Given the description of an element on the screen output the (x, y) to click on. 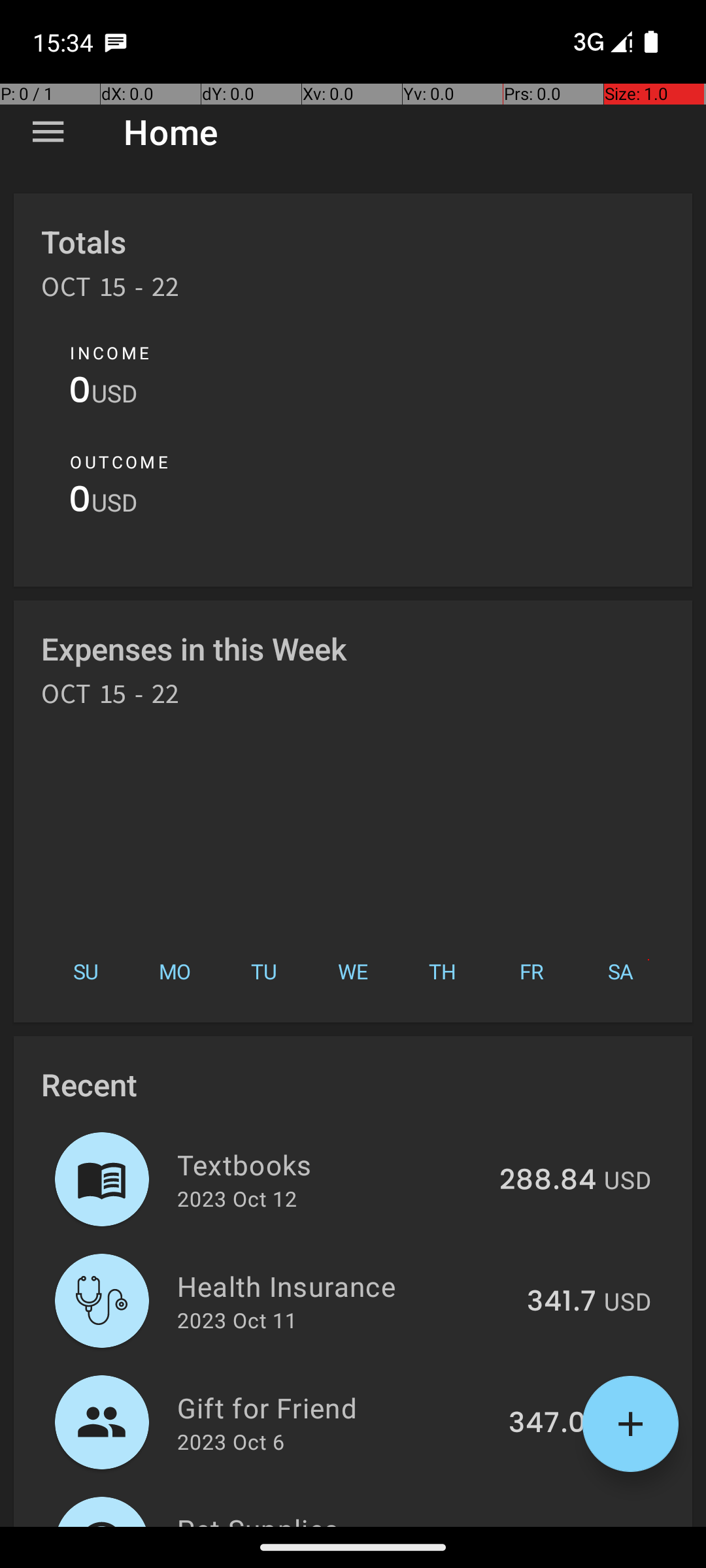
Textbooks Element type: android.widget.TextView (330, 1164)
288.84 Element type: android.widget.TextView (547, 1180)
Health Insurance Element type: android.widget.TextView (344, 1285)
2023 Oct 11 Element type: android.widget.TextView (236, 1320)
341.7 Element type: android.widget.TextView (561, 1301)
Gift for Friend Element type: android.widget.TextView (335, 1407)
2023 Oct 6 Element type: android.widget.TextView (230, 1441)
347.01 Element type: android.widget.TextView (551, 1423)
Pet Supplies Element type: android.widget.TextView (331, 1518)
293.83 Element type: android.widget.TextView (548, 1524)
